Given the description of an element on the screen output the (x, y) to click on. 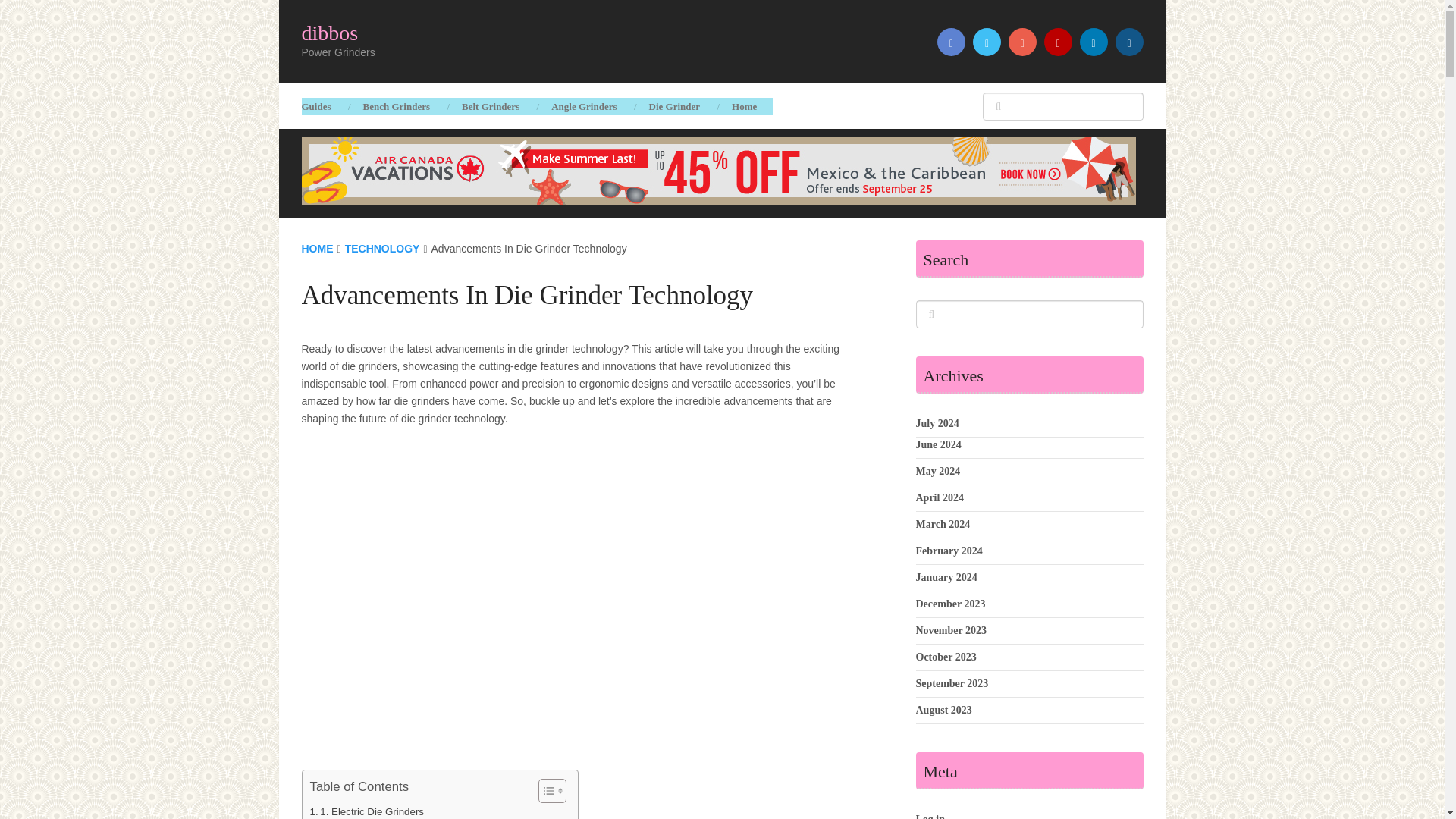
Die Grinder (673, 105)
Home (744, 105)
Angle Grinders (583, 105)
HOME (317, 248)
dibbos (329, 33)
Bench Grinders (396, 105)
TECHNOLOGY (382, 248)
1. Electric Die Grinders (365, 811)
Guides (324, 105)
Belt Grinders (490, 105)
1. Electric Die Grinders (365, 811)
